Given the description of an element on the screen output the (x, y) to click on. 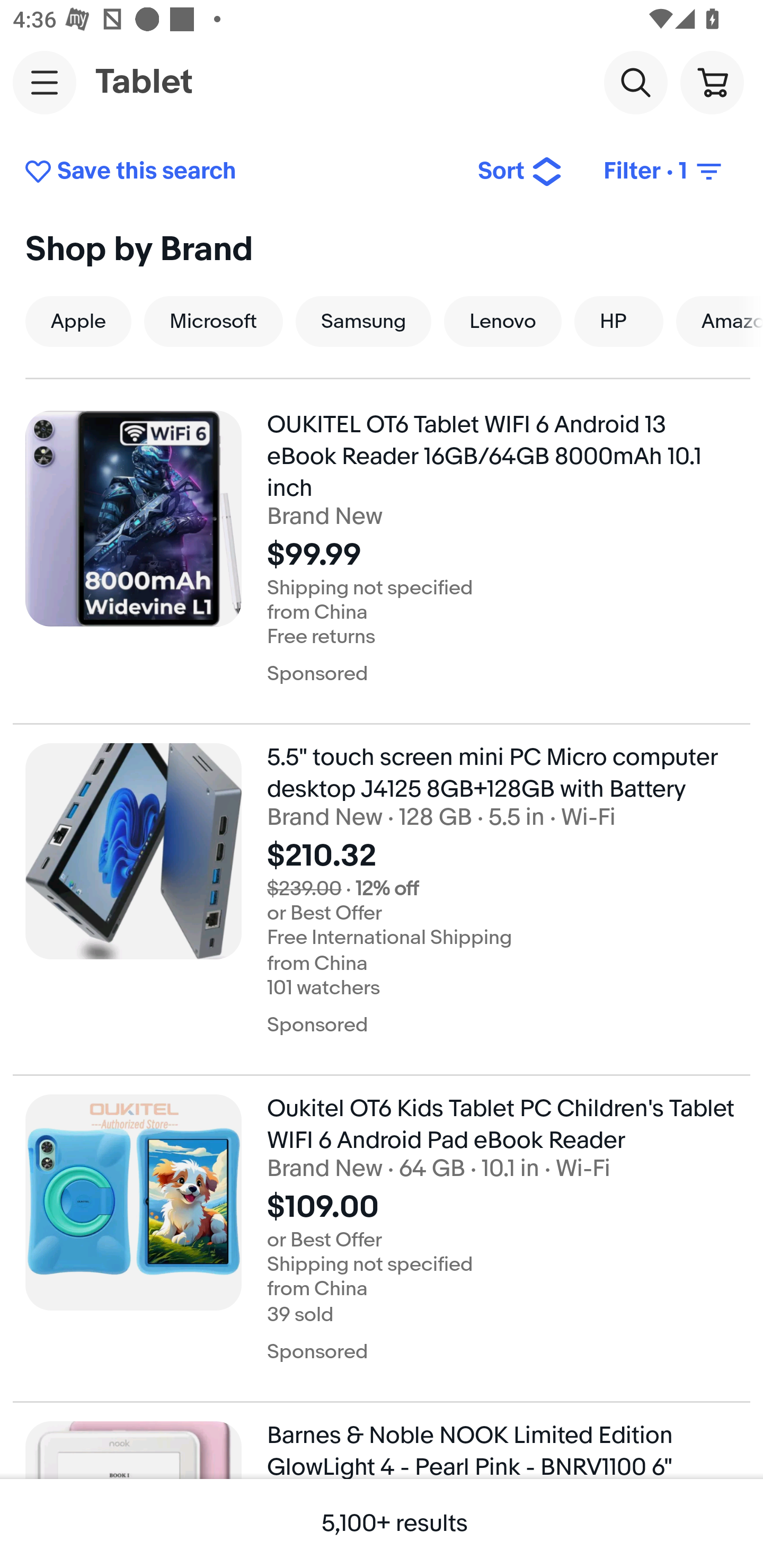
Main navigation, open (44, 82)
Search (635, 81)
Cart button shopping cart (711, 81)
Save this search (237, 171)
Sort (520, 171)
Filter • 1 Filter (1 applied) (663, 171)
Apple Apple, Brand (78, 321)
Microsoft Microsoft, Brand (213, 321)
Samsung Samsung, Brand (363, 321)
Lenovo Lenovo, Brand (502, 321)
HP HP, Brand (618, 321)
Amazon Amazon, Brand (719, 321)
